Given the description of an element on the screen output the (x, y) to click on. 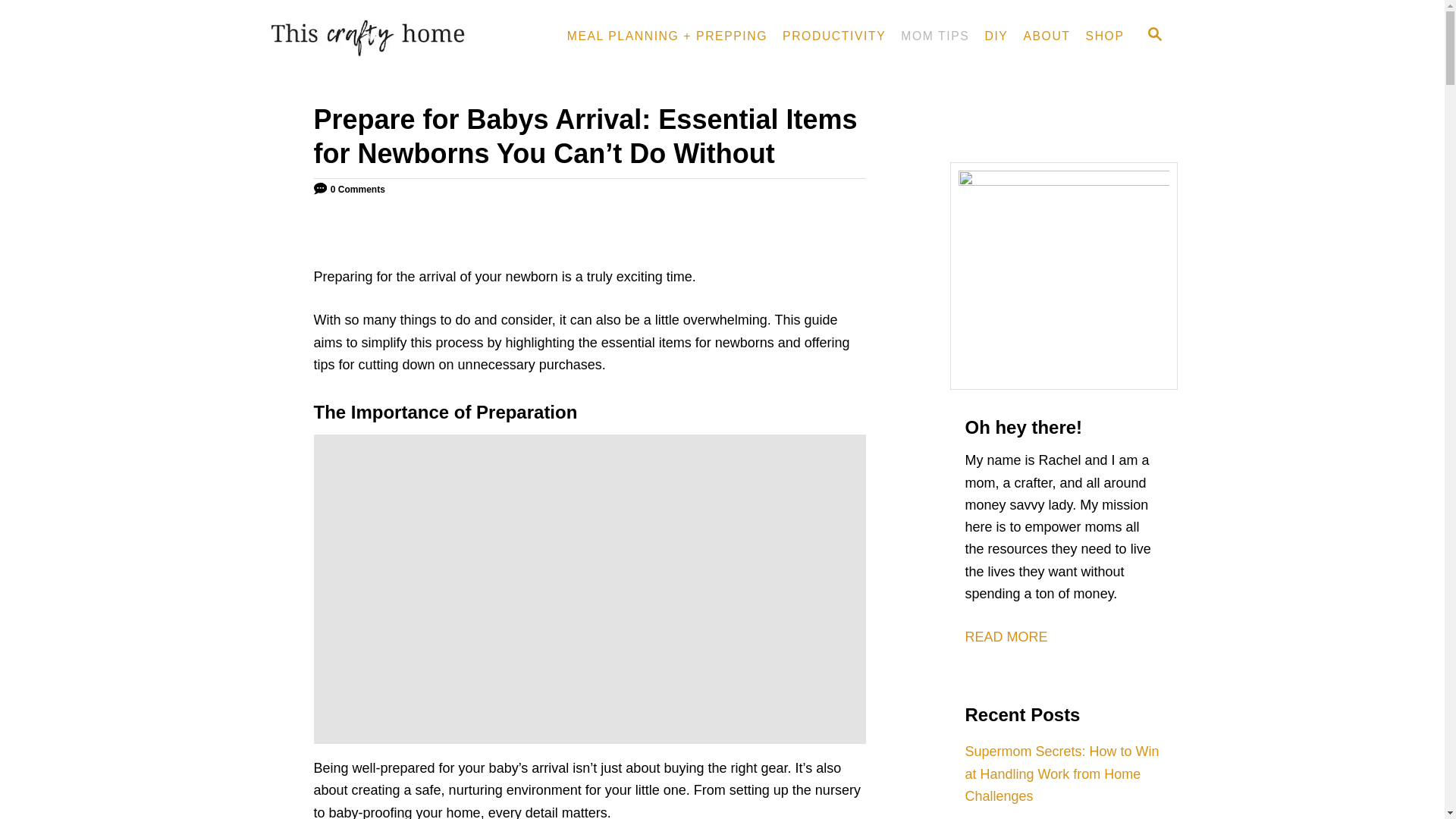
DIY (995, 36)
SEARCH (1153, 35)
MOM TIPS (934, 36)
SHOP (1105, 36)
This Crafty Home (396, 36)
READ MORE (1004, 636)
ABOUT (1045, 36)
PRODUCTIVITY (833, 36)
